Given the description of an element on the screen output the (x, y) to click on. 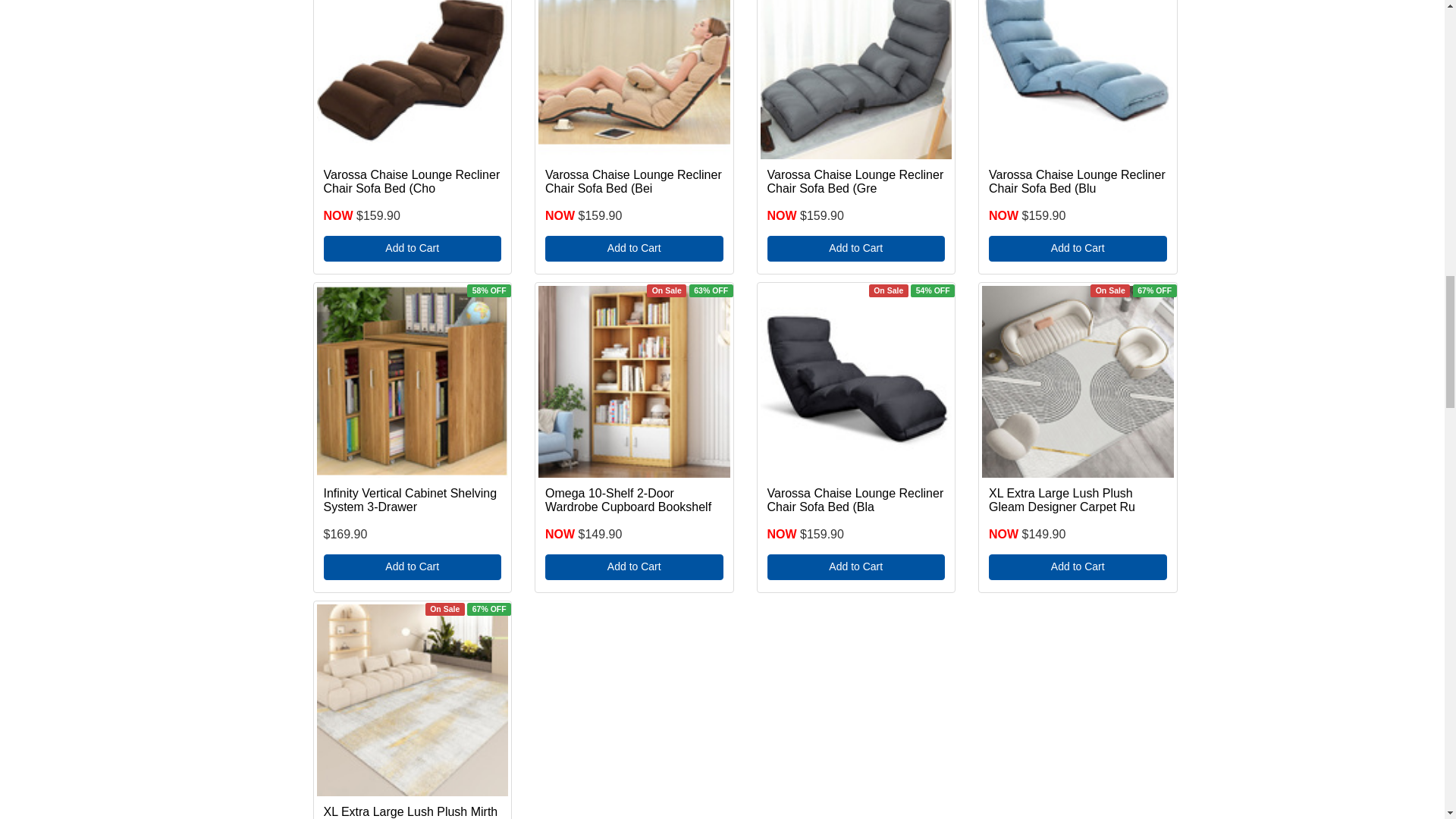
Add to Cart (411, 248)
